Given the description of an element on the screen output the (x, y) to click on. 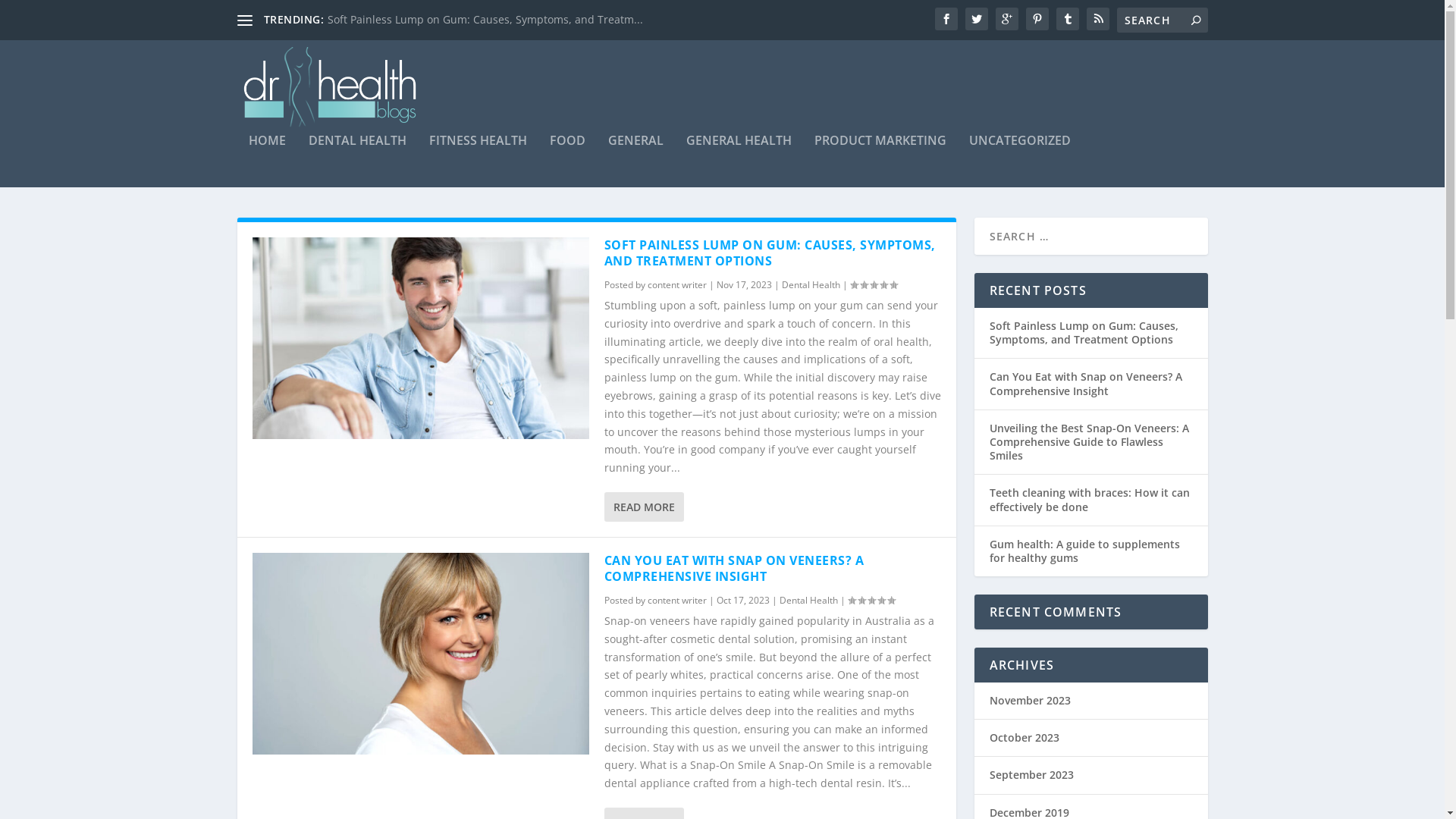
content writer Element type: text (676, 284)
FOOD Element type: text (566, 160)
GENERAL Element type: text (635, 160)
READ MORE Element type: text (643, 506)
Rating: 0.00 Element type: hover (870, 600)
Dental Health Element type: text (810, 284)
FITNESS HEALTH Element type: text (478, 160)
October 2023 Element type: text (1023, 737)
Soft Painless Lump on Gum: Causes, Symptoms, and Treatm... Element type: text (485, 19)
UNCATEGORIZED Element type: text (1019, 160)
Can You Eat with Snap on Veneers? A Comprehensive Insight Element type: text (1084, 383)
PRODUCT MARKETING Element type: text (880, 160)
HOME Element type: text (266, 160)
GENERAL HEALTH Element type: text (737, 160)
content writer Element type: text (676, 599)
Can You Eat with Snap on Veneers? A Comprehensive Insight Element type: hover (419, 653)
Search Element type: text (29, 14)
Rating: 0.00 Element type: hover (872, 284)
Gum health: A guide to supplements for healthy gums Element type: text (1083, 550)
November 2023 Element type: text (1029, 700)
Dental Health Element type: text (808, 599)
Teeth cleaning with braces: How it can effectively be done Element type: text (1088, 499)
CAN YOU EAT WITH SNAP ON VENEERS? A COMPREHENSIVE INSIGHT Element type: text (733, 568)
DENTAL HEALTH Element type: text (356, 160)
Search for: Element type: hover (1161, 19)
September 2023 Element type: text (1030, 774)
